Given the description of an element on the screen output the (x, y) to click on. 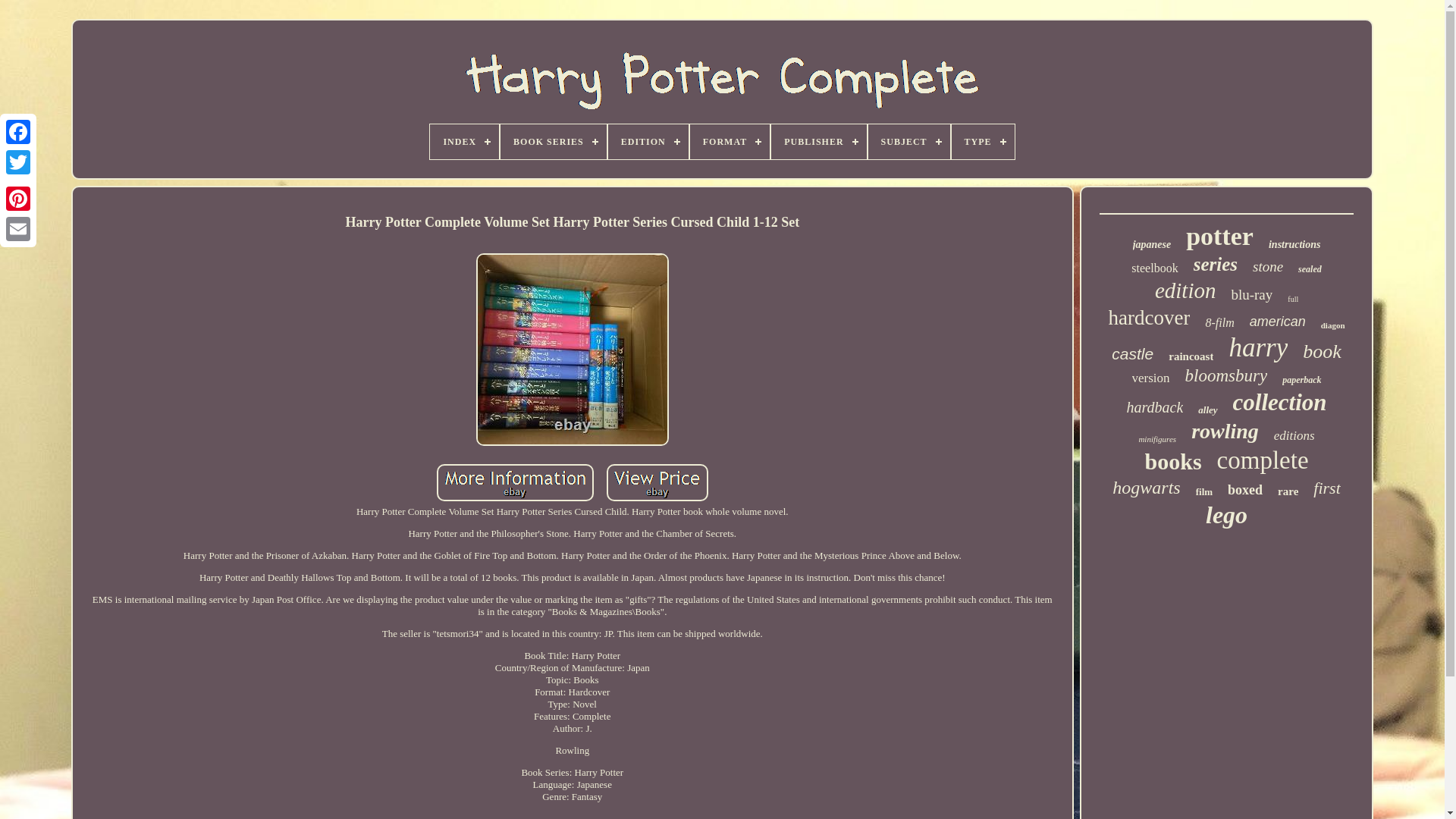
INDEX (464, 141)
FORMAT (730, 141)
EDITION (648, 141)
BOOK SERIES (553, 141)
